Given the description of an element on the screen output the (x, y) to click on. 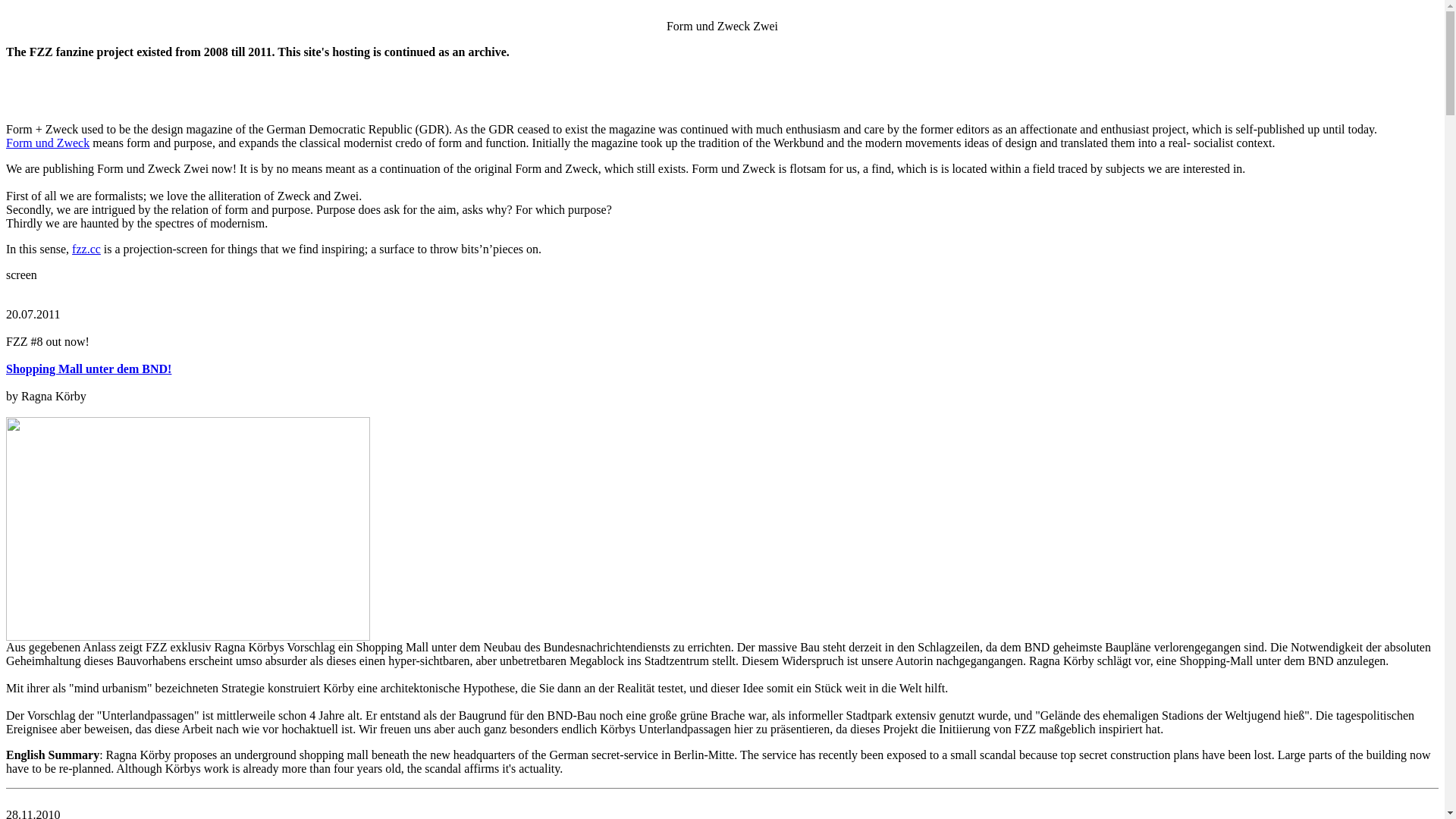
Form und Zweck Element type: text (47, 142)
fzz.cc Element type: text (86, 248)
Shopping Mall unter dem BND! Element type: text (88, 368)
